Given the description of an element on the screen output the (x, y) to click on. 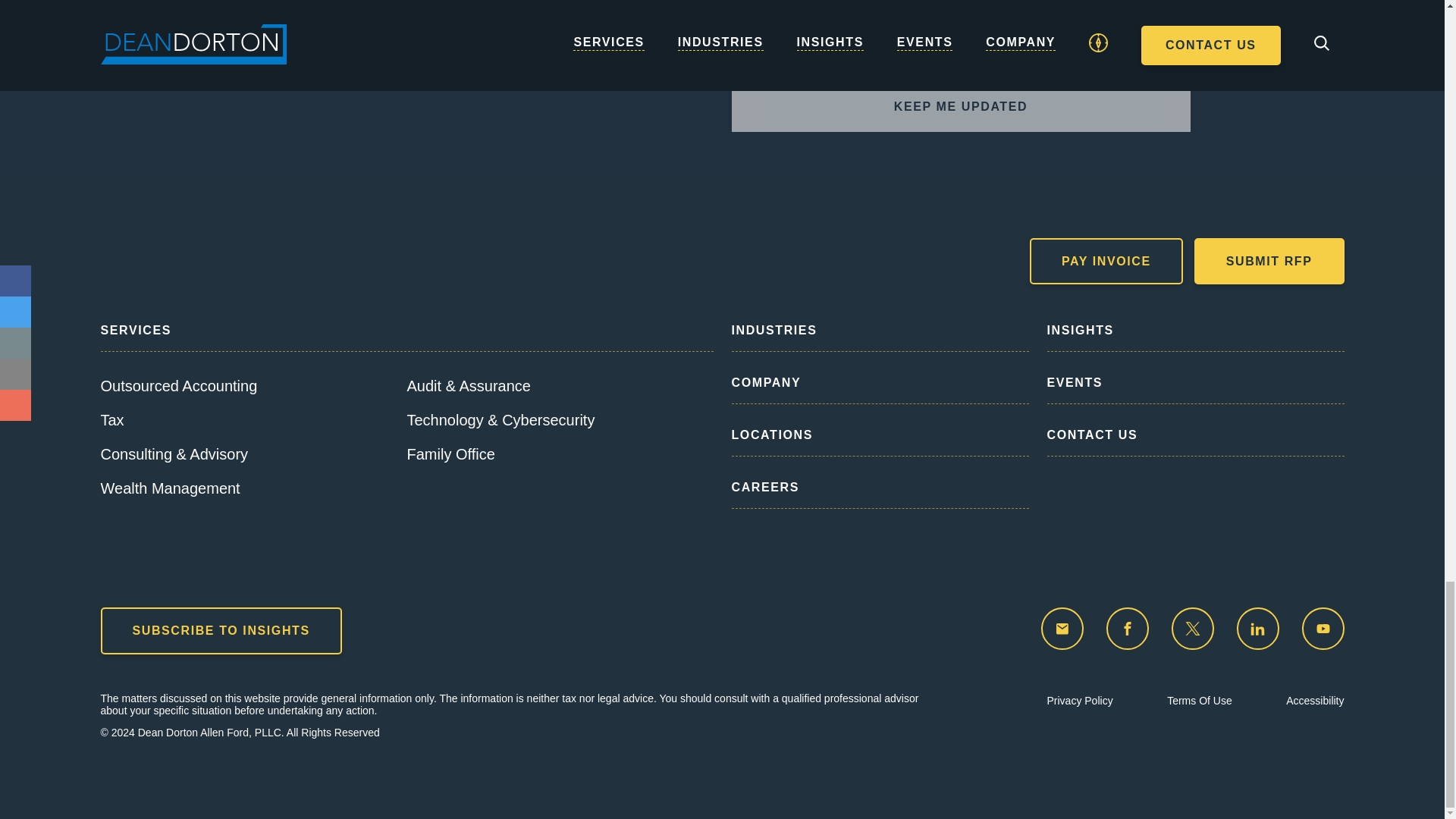
Dean Dorton - CPAs and Advisors on Facebook (1126, 628)
Dean Dorton - CPAs and Advisors on email (1062, 628)
Dean Dorton - CPAs and Advisors on twitter (1191, 628)
Dean Dorton - CPAs and Advisors on LinkedIn (1257, 628)
Dean Dorton - CPAs and Advisors on YouTube (1322, 628)
